Given the description of an element on the screen output the (x, y) to click on. 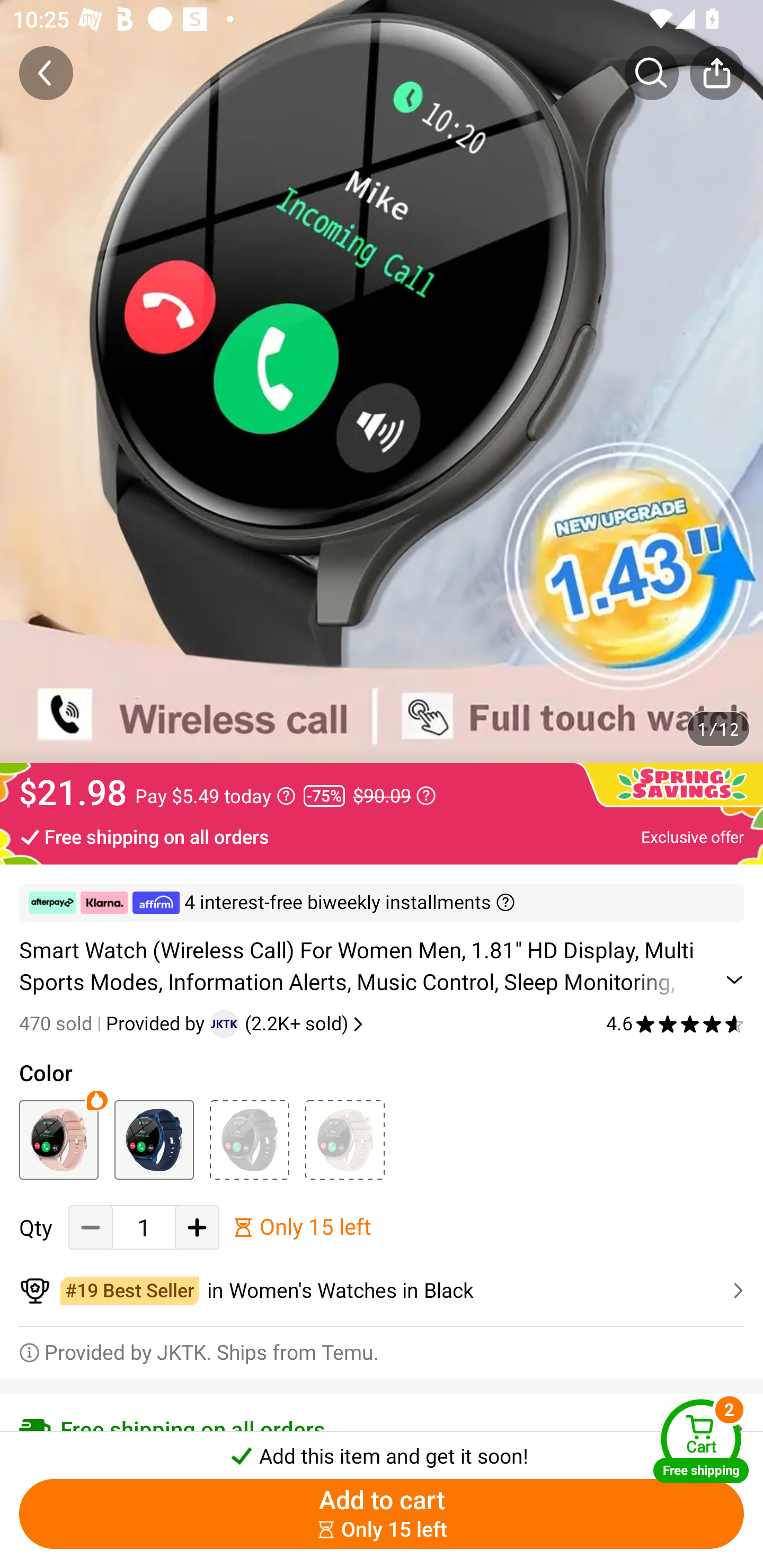
Back (46, 72)
Share (716, 72)
Pay $5.49 today   (215, 795)
Free shipping on all orders Exclusive offer (381, 836)
￼ ￼ ￼ 4 interest-free biweekly installments ￼ (381, 902)
470 sold Provided by  (114, 1023)
4.6 (674, 1023)
pink   (58, 1139)
Blue (153, 1139)
Black (249, 1139)
Golden (344, 1139)
Decrease Quantity Button (90, 1227)
1 (143, 1227)
Add Quantity button (196, 1227)
￼￼in Women's Watches in Black (381, 1290)
Cart Free shipping Cart (701, 1440)
￼￼Add this item and get it soon!  (381, 1450)
Add to cart ￼￼Only 15 left (381, 1513)
